Given the description of an element on the screen output the (x, y) to click on. 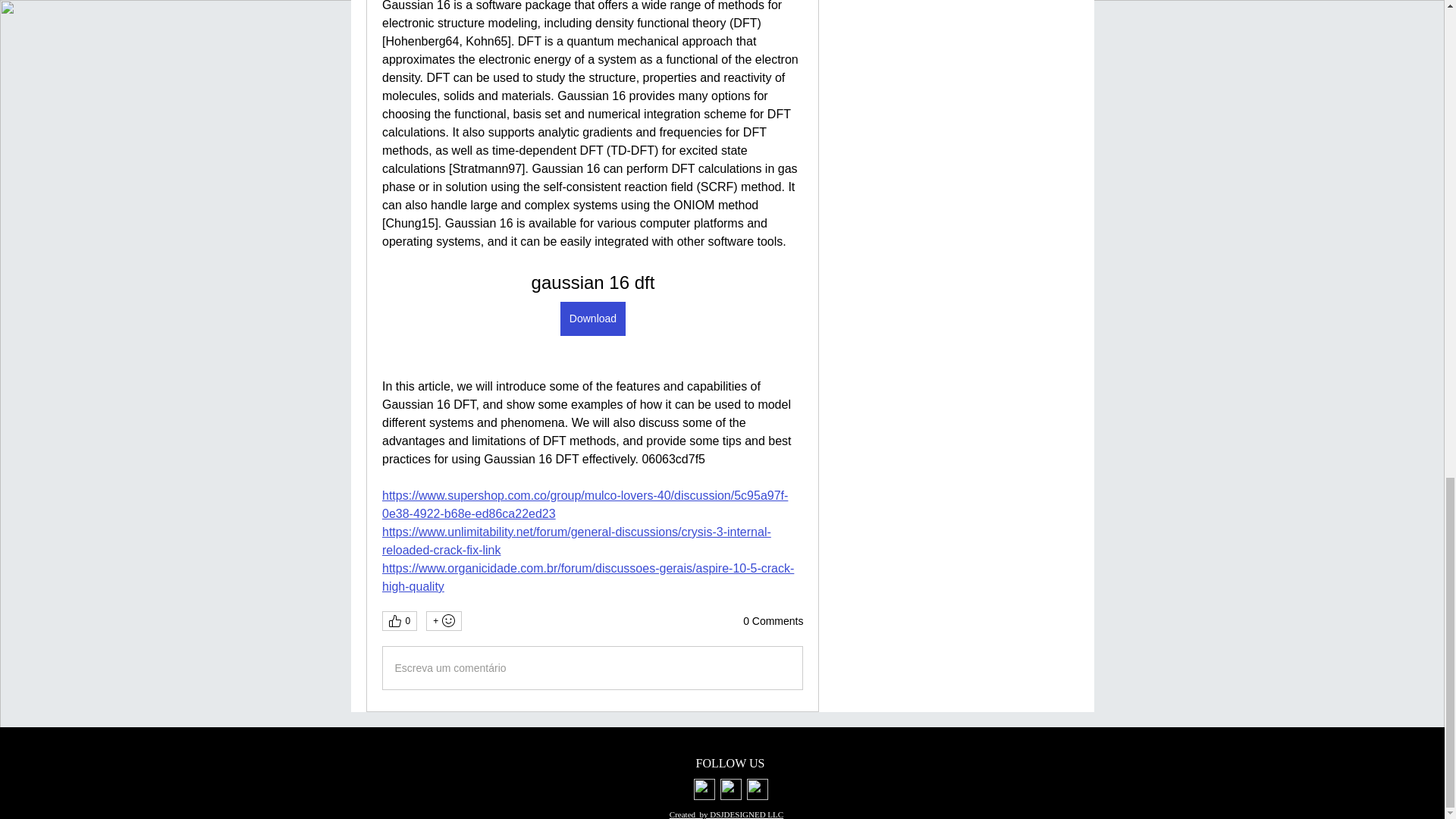
Download (591, 318)
0 Comments (772, 621)
